Given the description of an element on the screen output the (x, y) to click on. 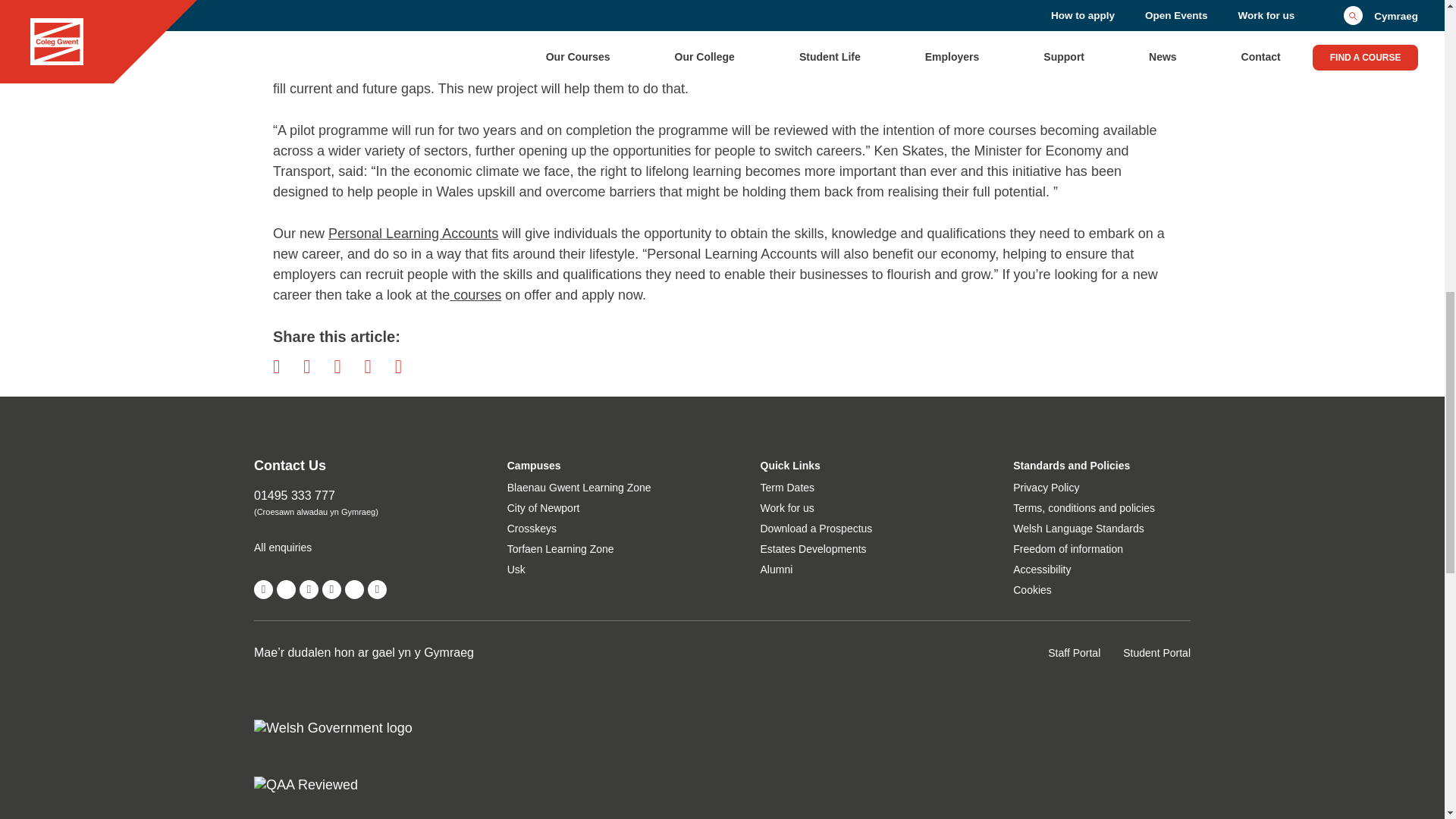
Find us on LinkedIn (377, 588)
Call us on 01495 333 777 (341, 495)
Find us on TikTok (354, 588)
Find us on Facebook (263, 588)
Find us on Twitter (285, 588)
Find us on Instagram (330, 588)
Find us on YouTube (308, 588)
